Given the description of an element on the screen output the (x, y) to click on. 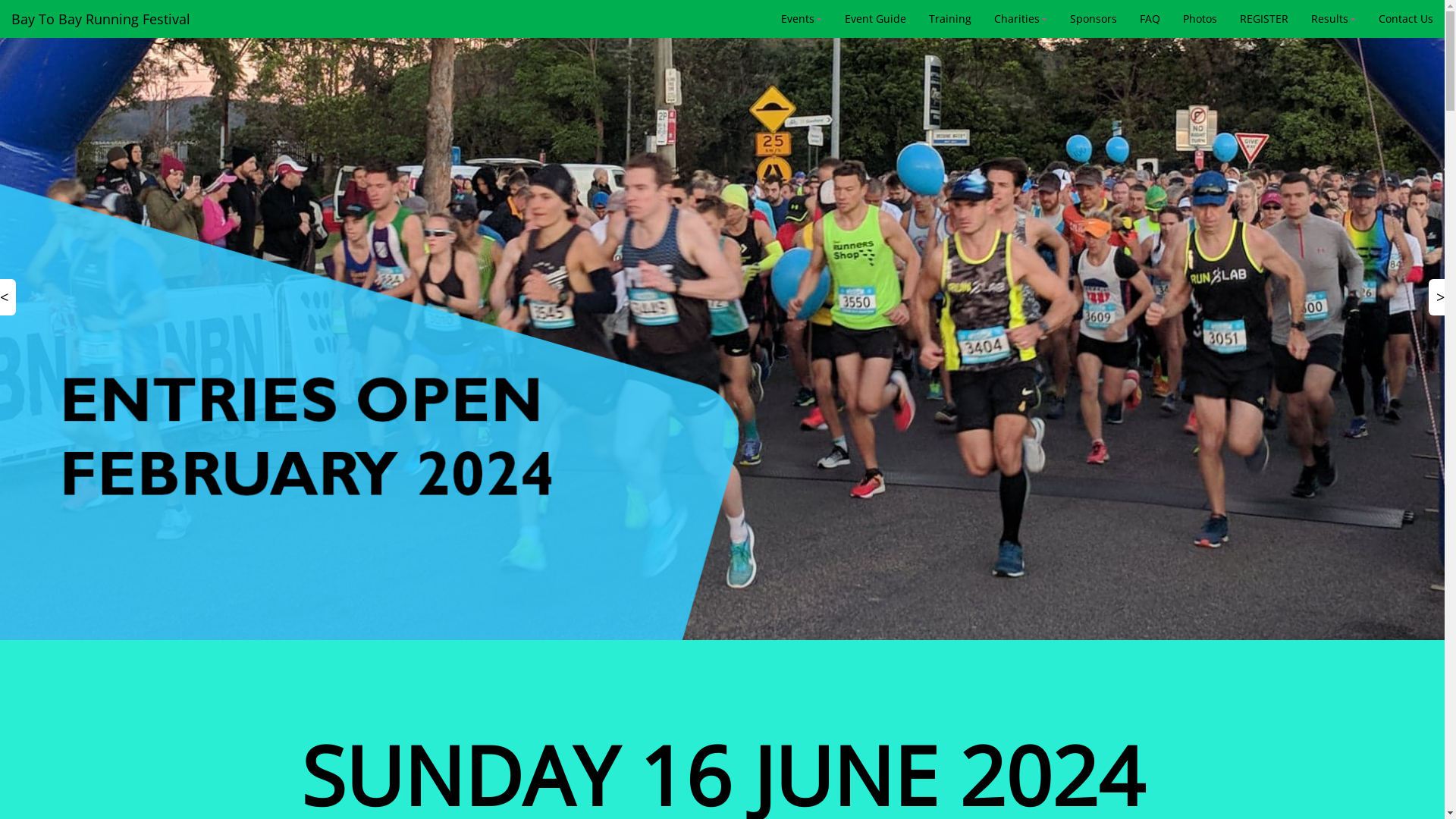
> Element type: text (1436, 297)
Event Guide Element type: text (875, 18)
Results Element type: text (1333, 18)
Contact Us Element type: text (1405, 18)
REGISTER Element type: text (1263, 18)
FAQ Element type: text (1149, 18)
Sponsors Element type: text (1093, 18)
Bay To Bay Running Festival Element type: text (100, 18)
Charities Element type: text (1020, 18)
Training Element type: text (949, 18)
Events Element type: text (801, 18)
< Element type: text (7, 297)
Photos Element type: text (1199, 18)
